Given the description of an element on the screen output the (x, y) to click on. 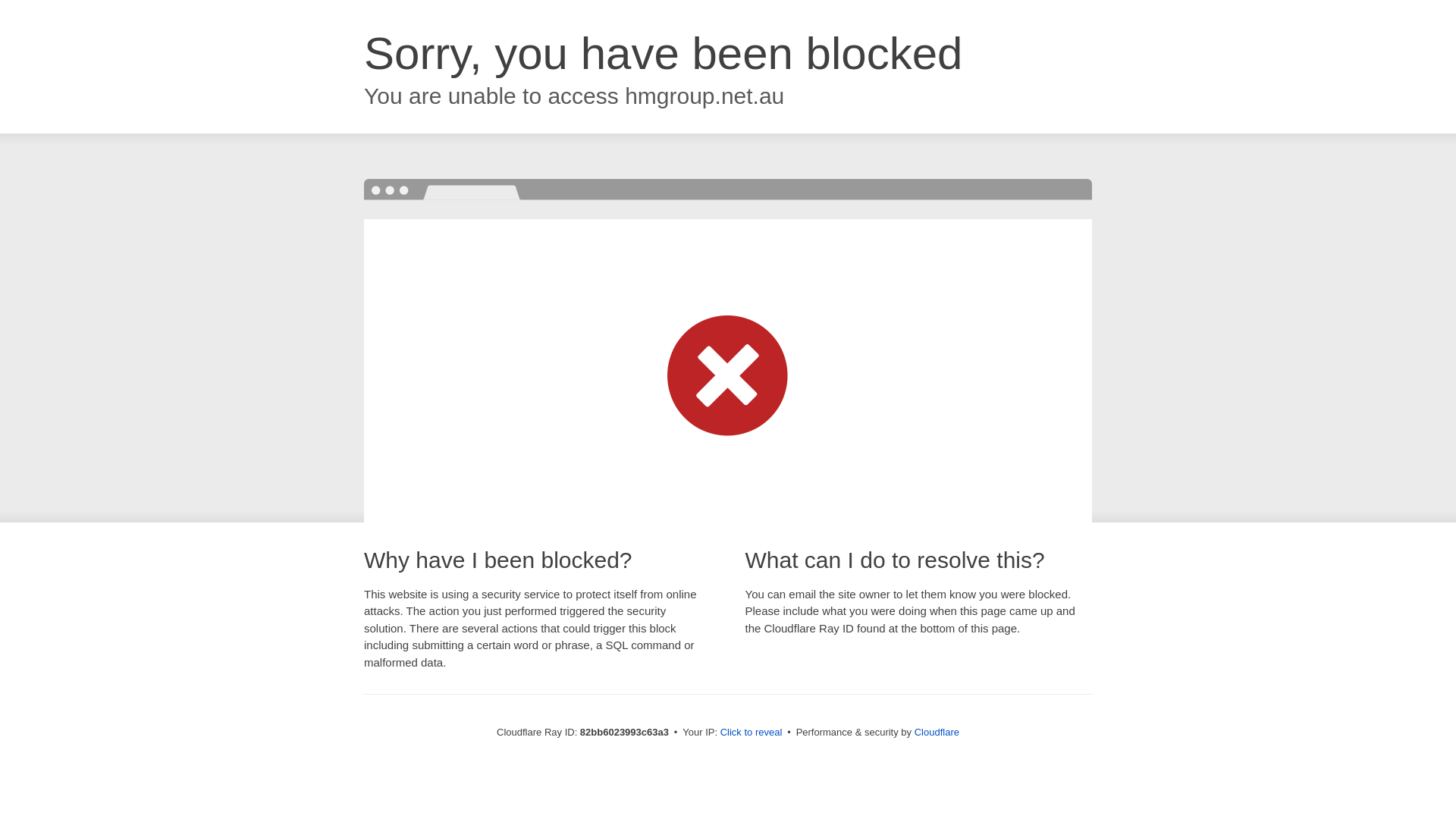
Cloudflare Element type: text (936, 731)
Click to reveal Element type: text (751, 732)
